Given the description of an element on the screen output the (x, y) to click on. 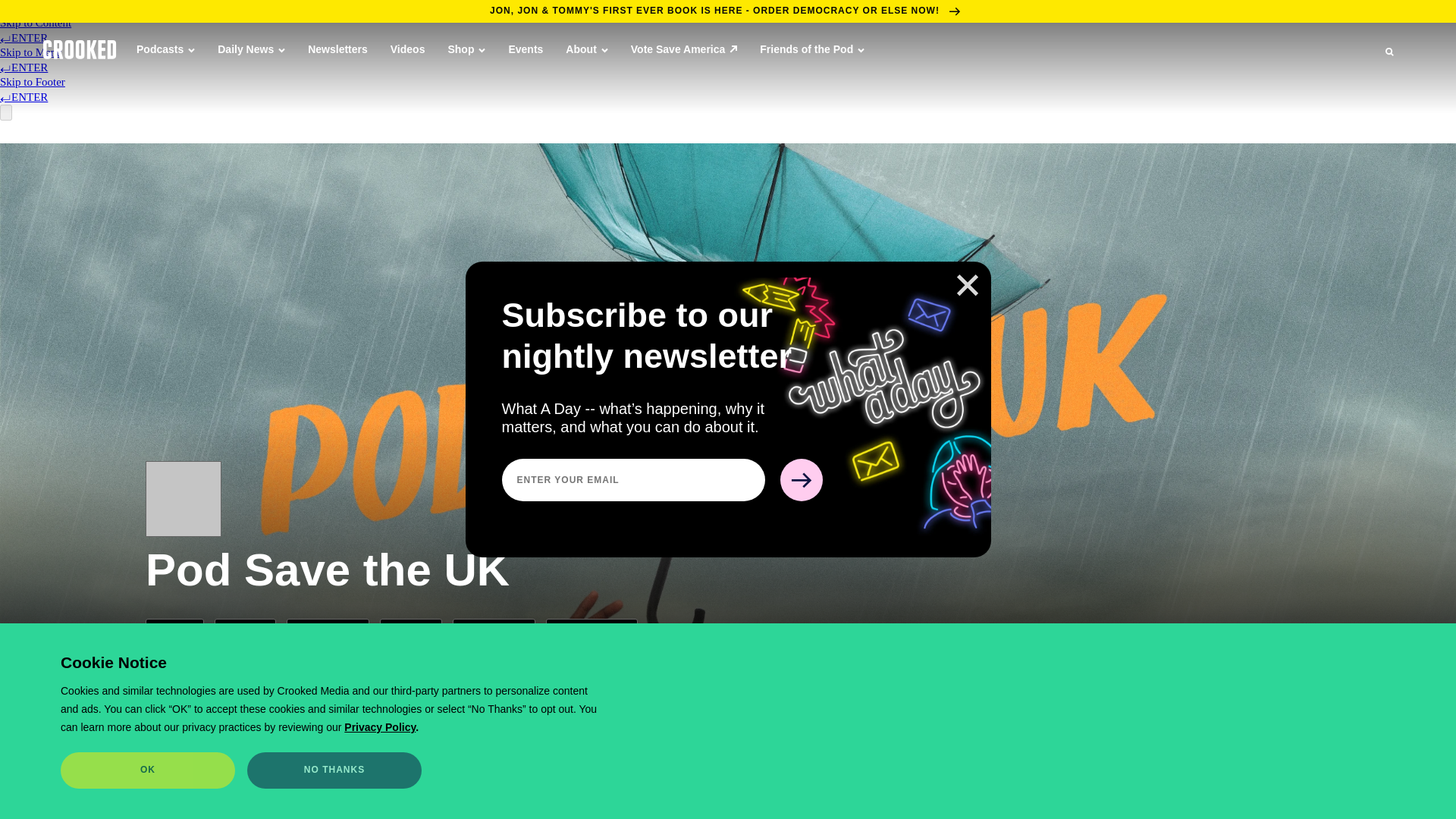
Shop (465, 48)
Newsletters (337, 48)
Events (525, 48)
Friends of the Pod (812, 48)
Podcasts (165, 48)
Vote Save America (684, 48)
Videos (407, 48)
Daily News (250, 48)
About (586, 48)
